Given the description of an element on the screen output the (x, y) to click on. 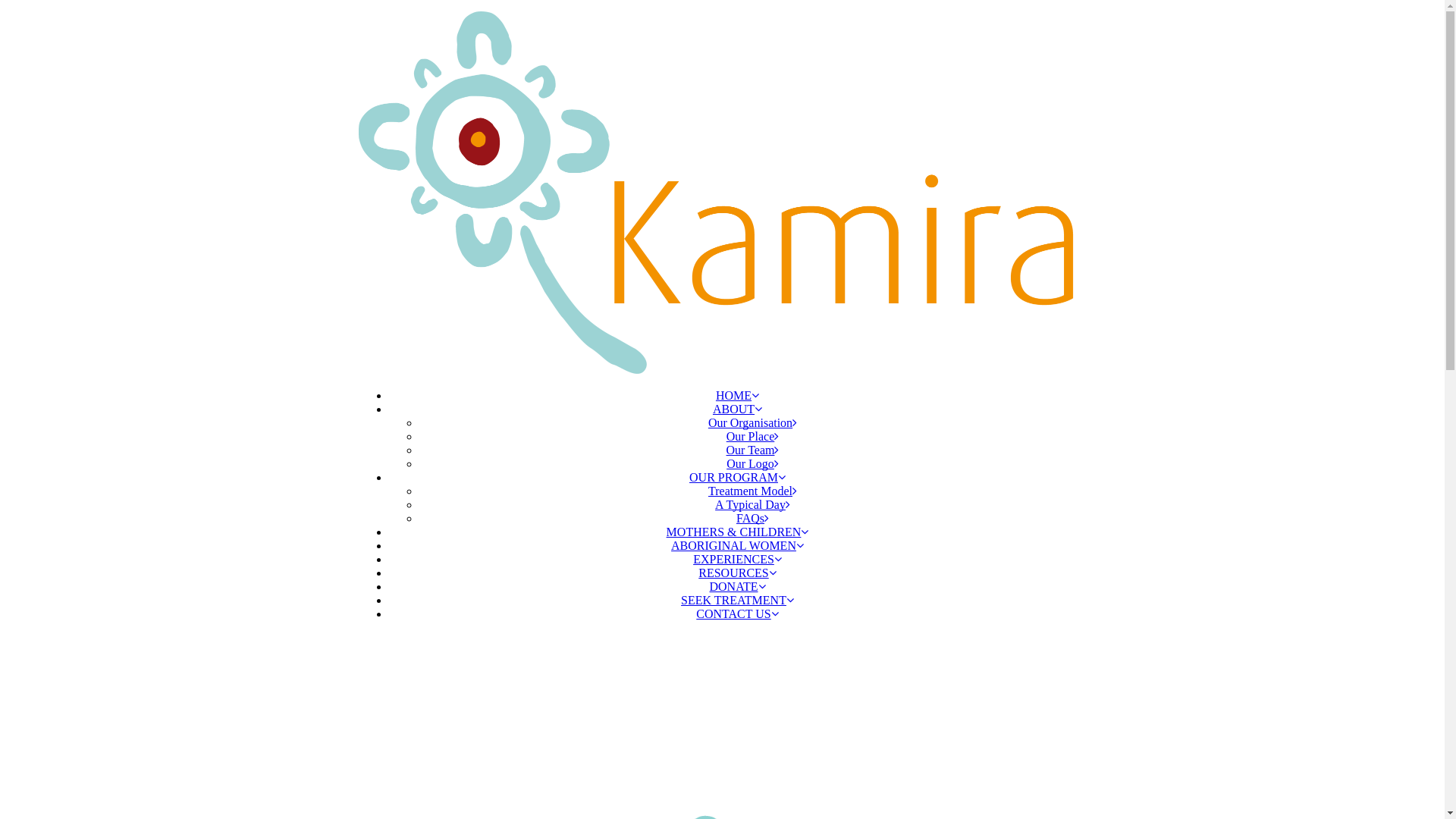
RESOURCES Element type: text (736, 571)
HOME Element type: text (737, 394)
ABORIGINAL WOMEN Element type: text (737, 544)
CONTACT US Element type: text (737, 612)
EXPERIENCES Element type: text (737, 558)
Our Organisation Element type: text (752, 421)
Our Team Element type: text (752, 448)
DONATE Element type: text (737, 585)
OUR PROGRAM Element type: text (737, 476)
Our Logo Element type: text (752, 462)
A Typical Day Element type: text (752, 503)
Our Place Element type: text (752, 435)
Treatment Model Element type: text (752, 489)
ABOUT Element type: text (737, 407)
SEEK TREATMENT Element type: text (736, 599)
MOTHERS & CHILDREN Element type: text (737, 530)
FAQs Element type: text (752, 517)
